Given the description of an element on the screen output the (x, y) to click on. 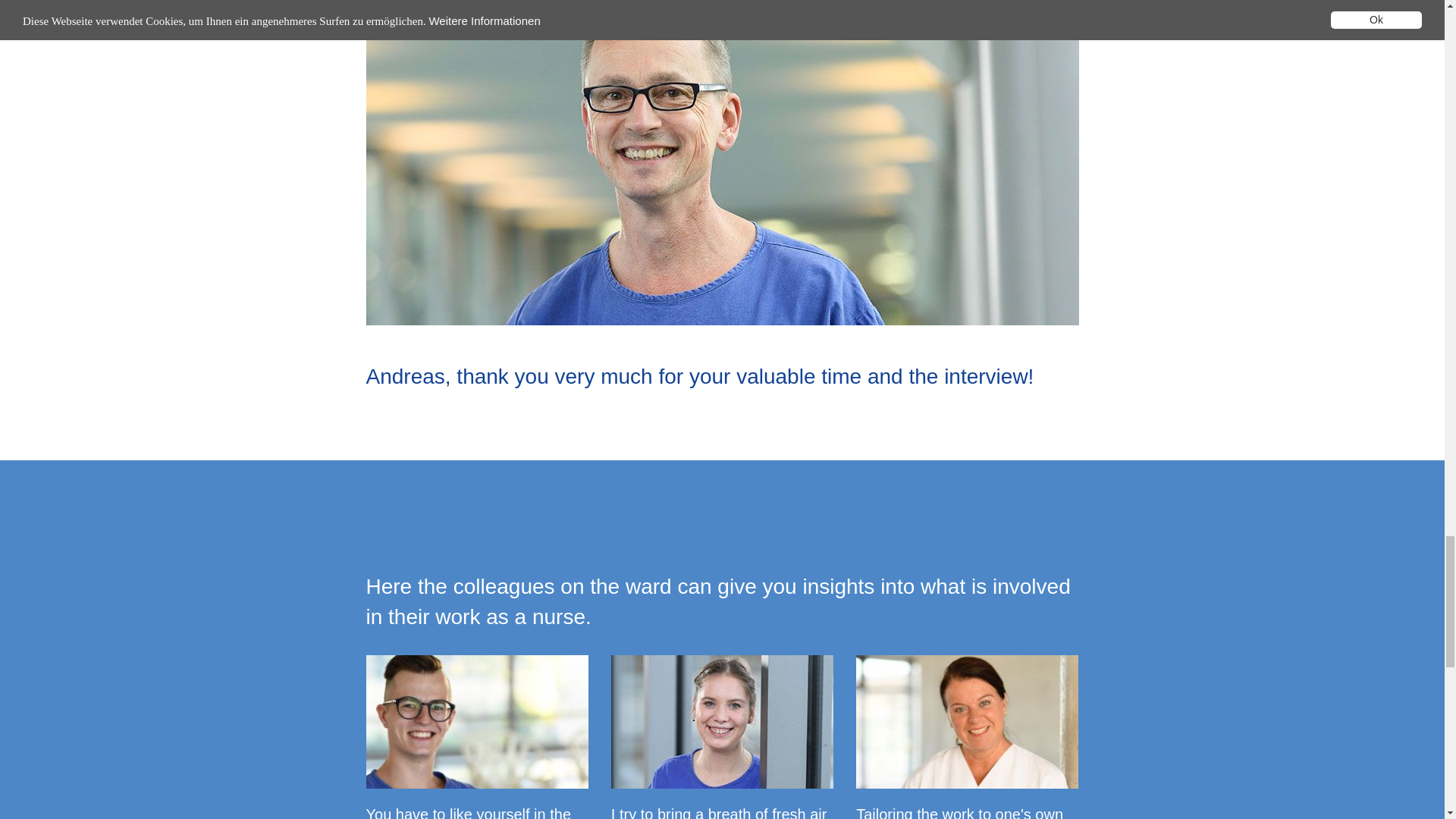
Daniela E. (967, 721)
Harry D. (476, 721)
